Given the description of an element on the screen output the (x, y) to click on. 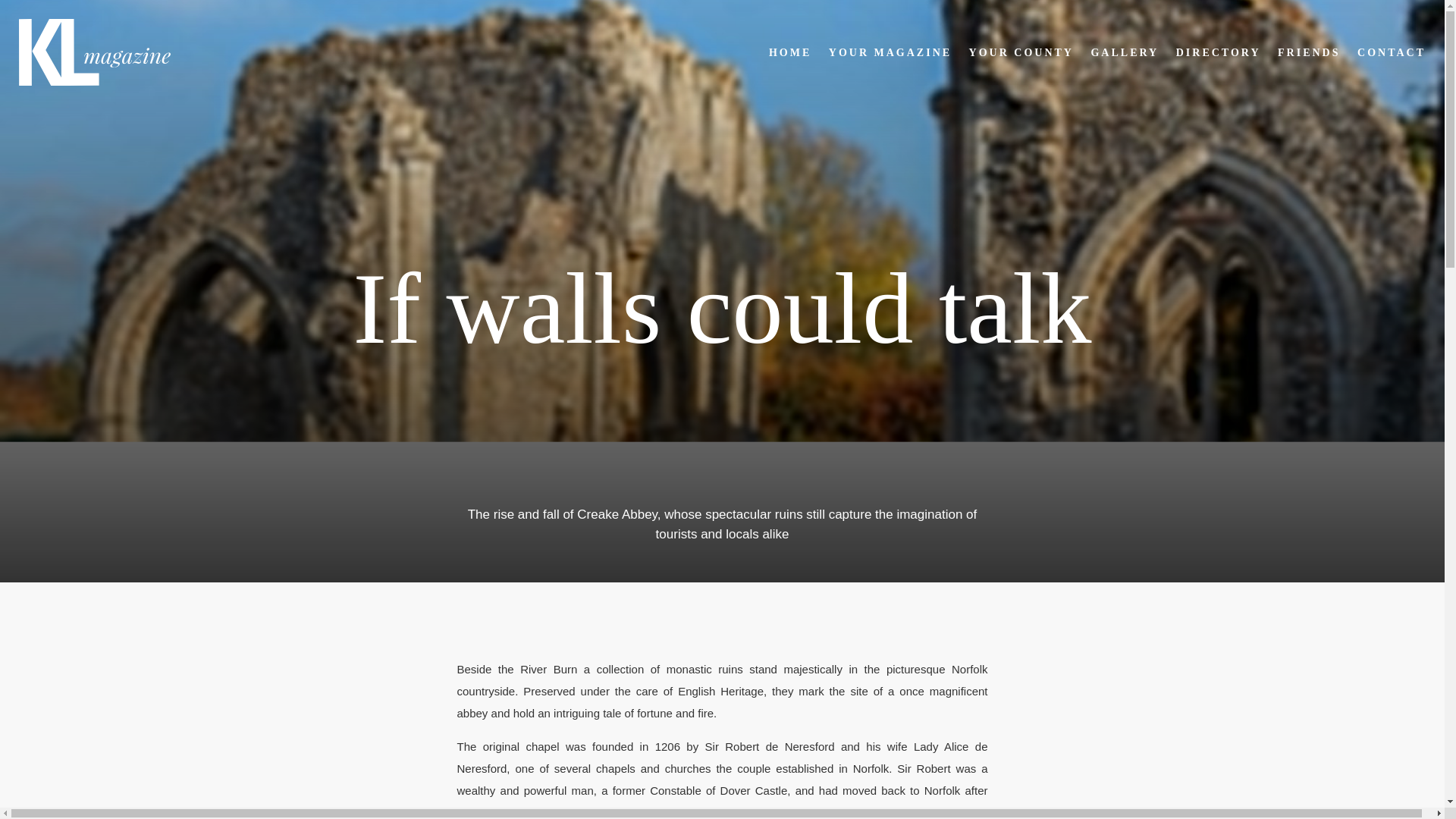
CONTACT (1390, 52)
YOUR MAGAZINE (890, 52)
HOME (789, 52)
GALLERY (1124, 52)
YOUR COUNTY (1021, 52)
FRIENDS (1308, 52)
DIRECTORY (1218, 52)
